Given the description of an element on the screen output the (x, y) to click on. 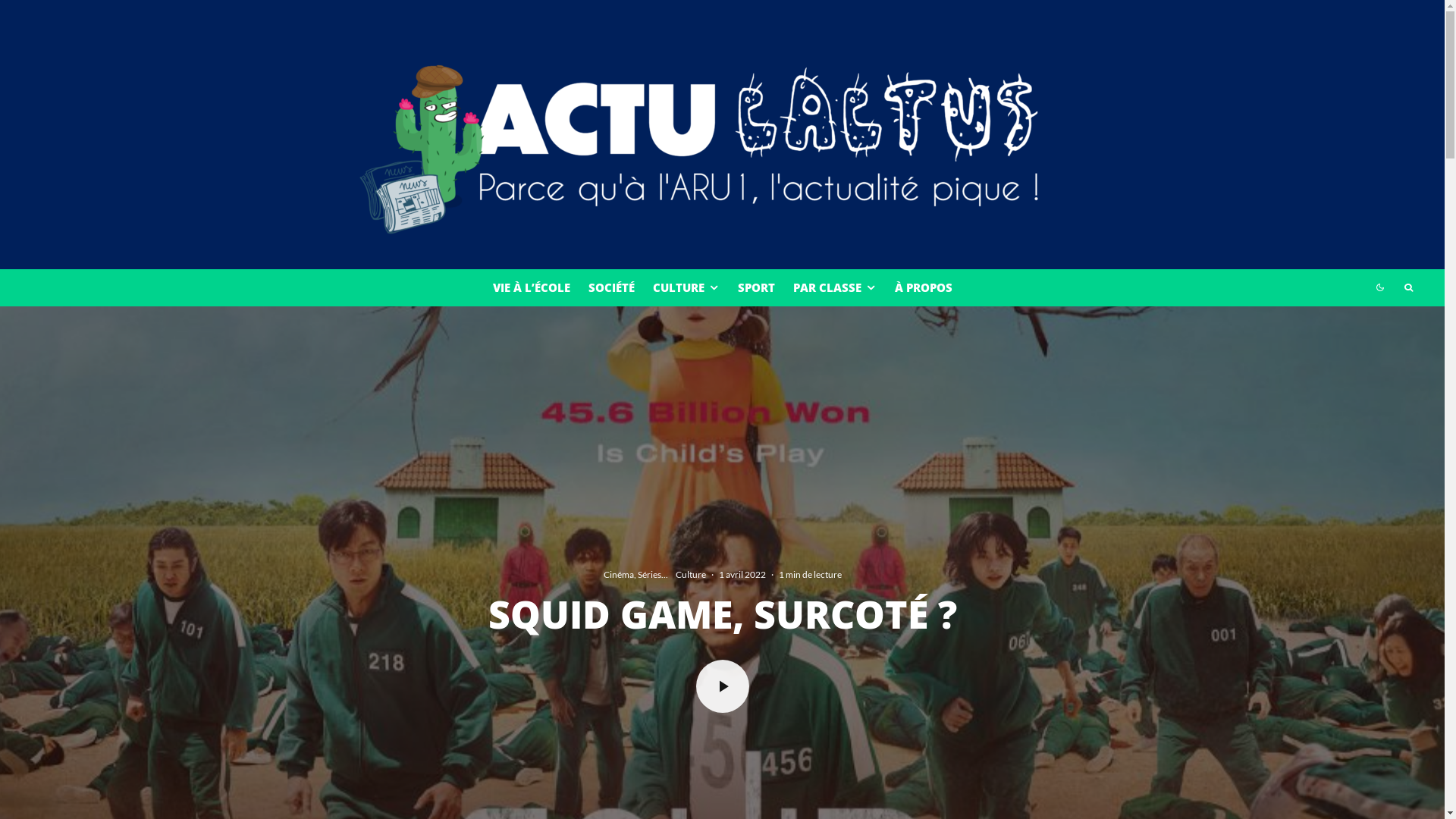
PAR CLASSE Element type: text (834, 287)
Culture Element type: text (689, 574)
CULTURE Element type: text (685, 287)
ACCUEIL Element type: text (690, 606)
SPORT Element type: text (755, 287)
